Given the description of an element on the screen output the (x, y) to click on. 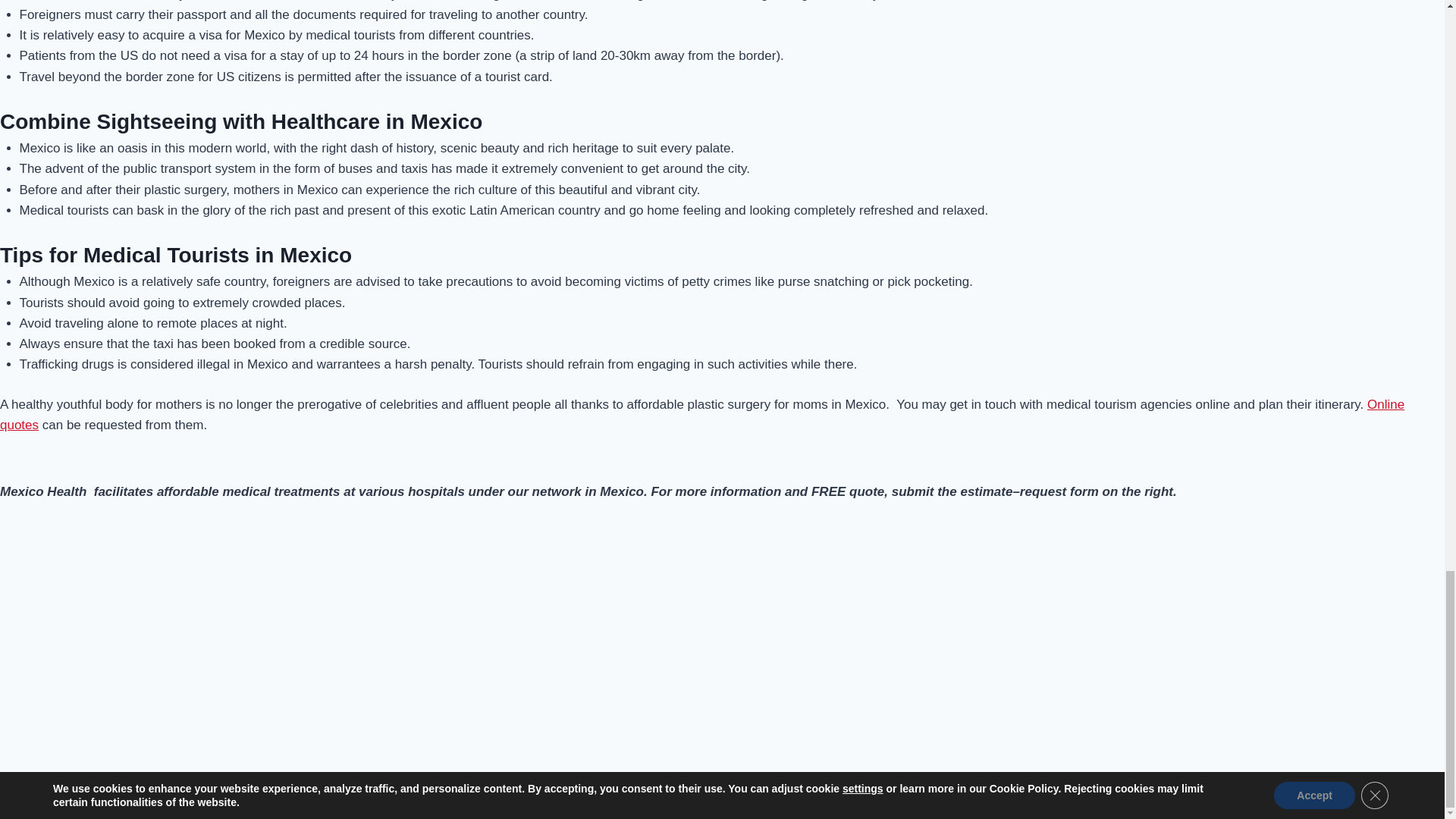
Online quotes (702, 414)
Online Quotes (702, 414)
